Given the description of an element on the screen output the (x, y) to click on. 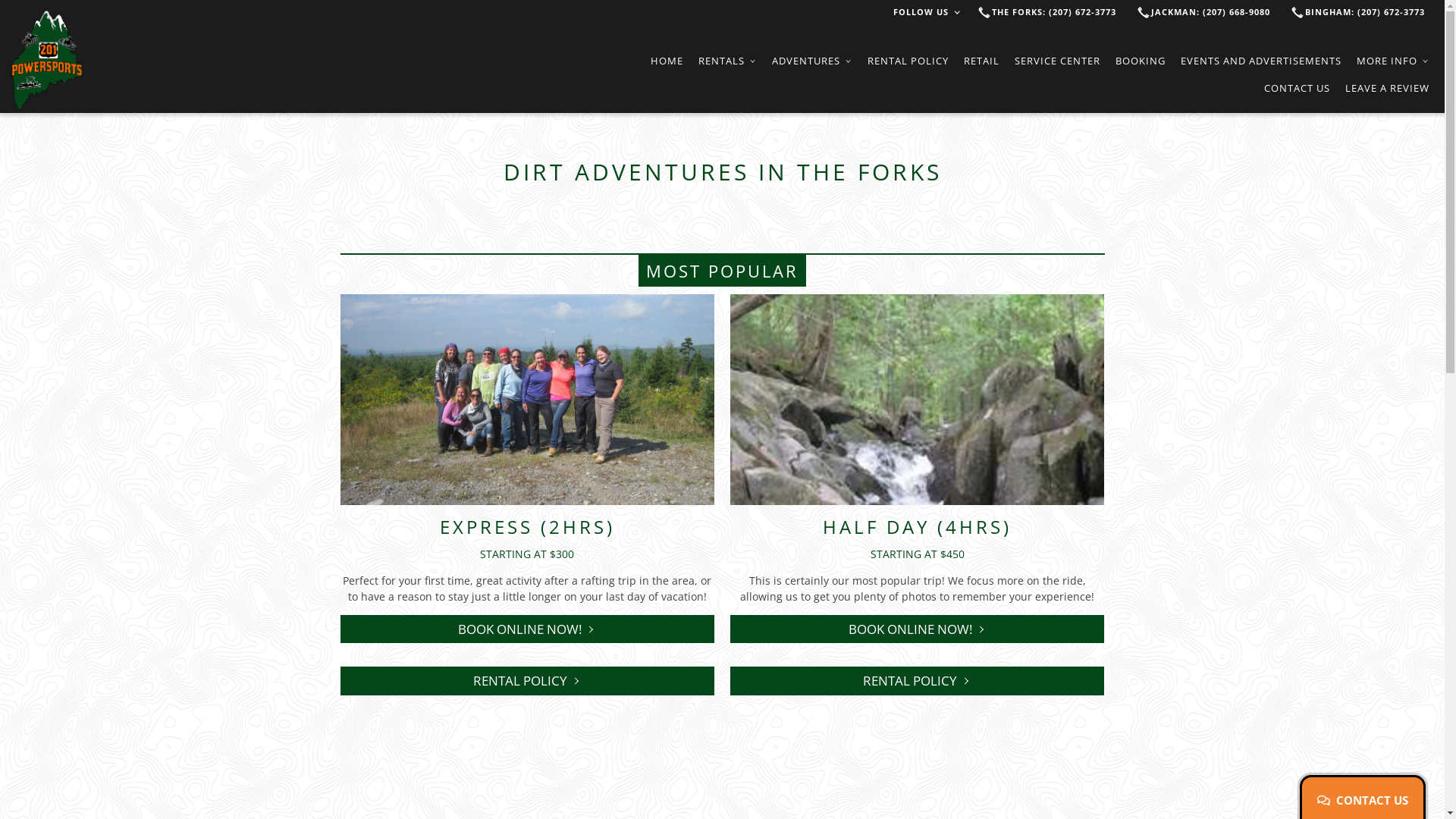
LEAVE A REVIEW Element type: text (1387, 87)
Jackman: (207) 668-9080 Element type: hover (1212, 11)
Bingham: (207) 672-3773 Element type: hover (1366, 11)
EXPRESS (2HRS) Element type: text (527, 526)
HALF DAY (4HRS) Element type: text (916, 526)
The Forks: (207) 672-3773 Element type: hover (1055, 11)
RENTAL POLICY Element type: text (907, 60)
CONTACT US Element type: text (1297, 87)
BOOK ONLINE NOW! Element type: text (917, 629)
RENTAL POLICY Element type: text (526, 680)
RETAIL Element type: text (981, 60)
RENTAL POLICY Element type: text (917, 680)
HOME Element type: text (666, 60)
BOOK ONLINE NOW! Element type: text (526, 629)
SERVICE CENTER Element type: text (1057, 60)
  CONTACT US Element type: text (1362, 801)
BOOKING Element type: text (1140, 60)
EVENTS AND ADVERTISEMENTS Element type: text (1260, 60)
